Given the description of an element on the screen output the (x, y) to click on. 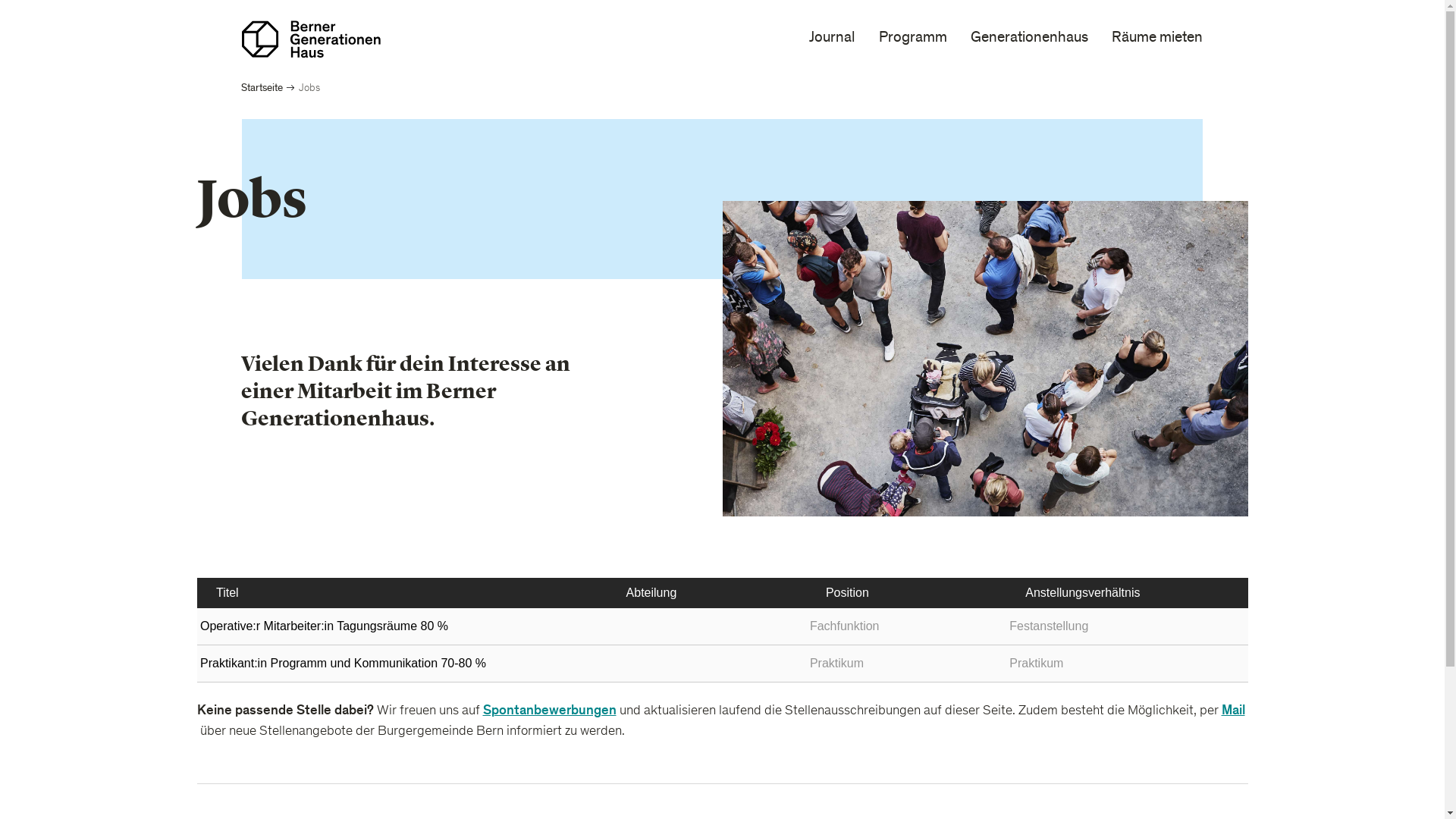
Startseite Element type: text (261, 88)
Mail Element type: text (1232, 709)
Generationenhaus Element type: text (1029, 38)
Spontanbewerbungen Element type: text (548, 709)
Direkt zum Inhalt Element type: text (0, 0)
Programm Element type: text (912, 38)
Journal Element type: text (832, 38)
